Given the description of an element on the screen output the (x, y) to click on. 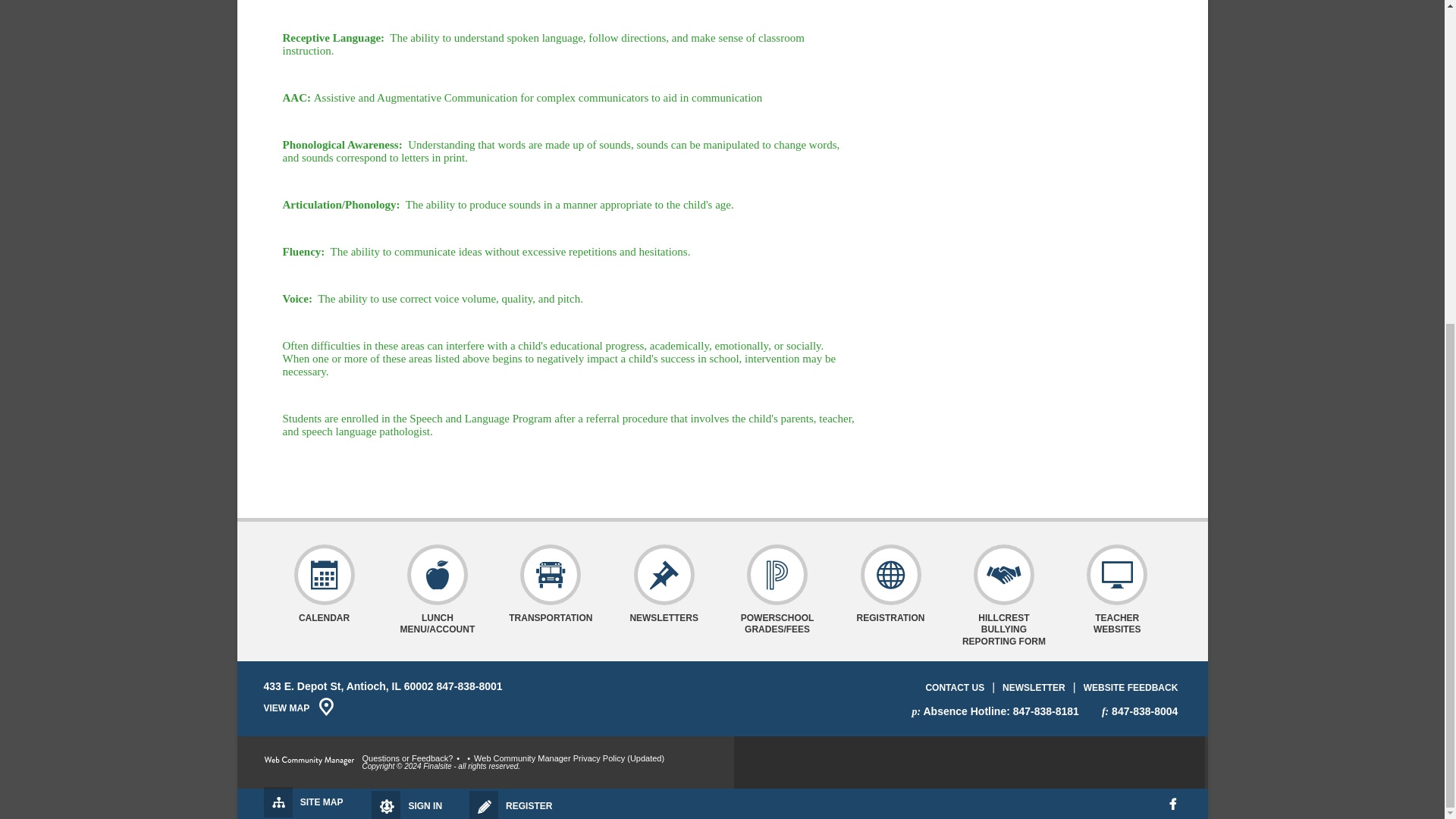
Finalsite - all rights reserved (309, 760)
